Given the description of an element on the screen output the (x, y) to click on. 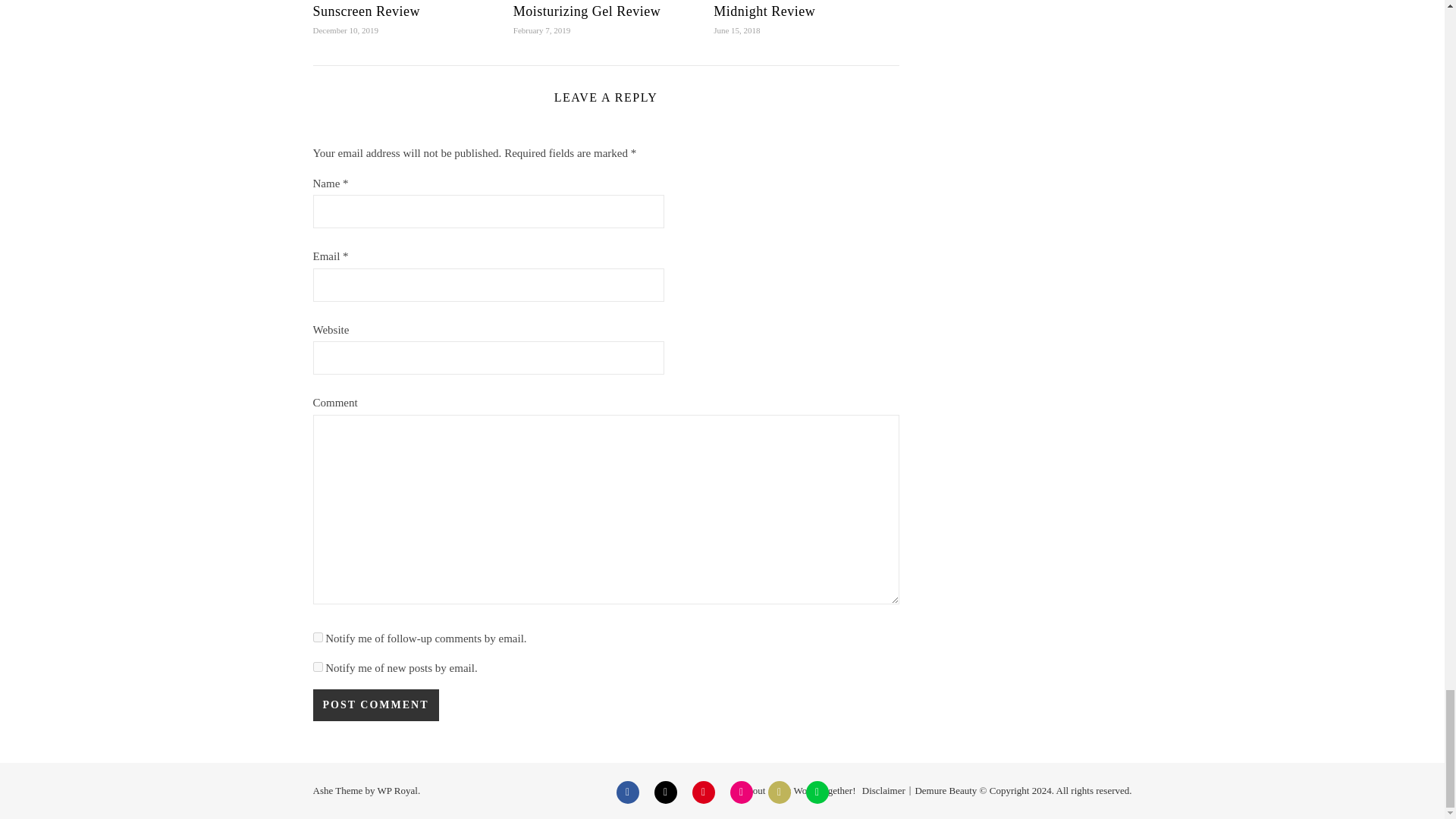
subscribe (317, 666)
Post Comment (375, 705)
subscribe (317, 637)
